Given the description of an element on the screen output the (x, y) to click on. 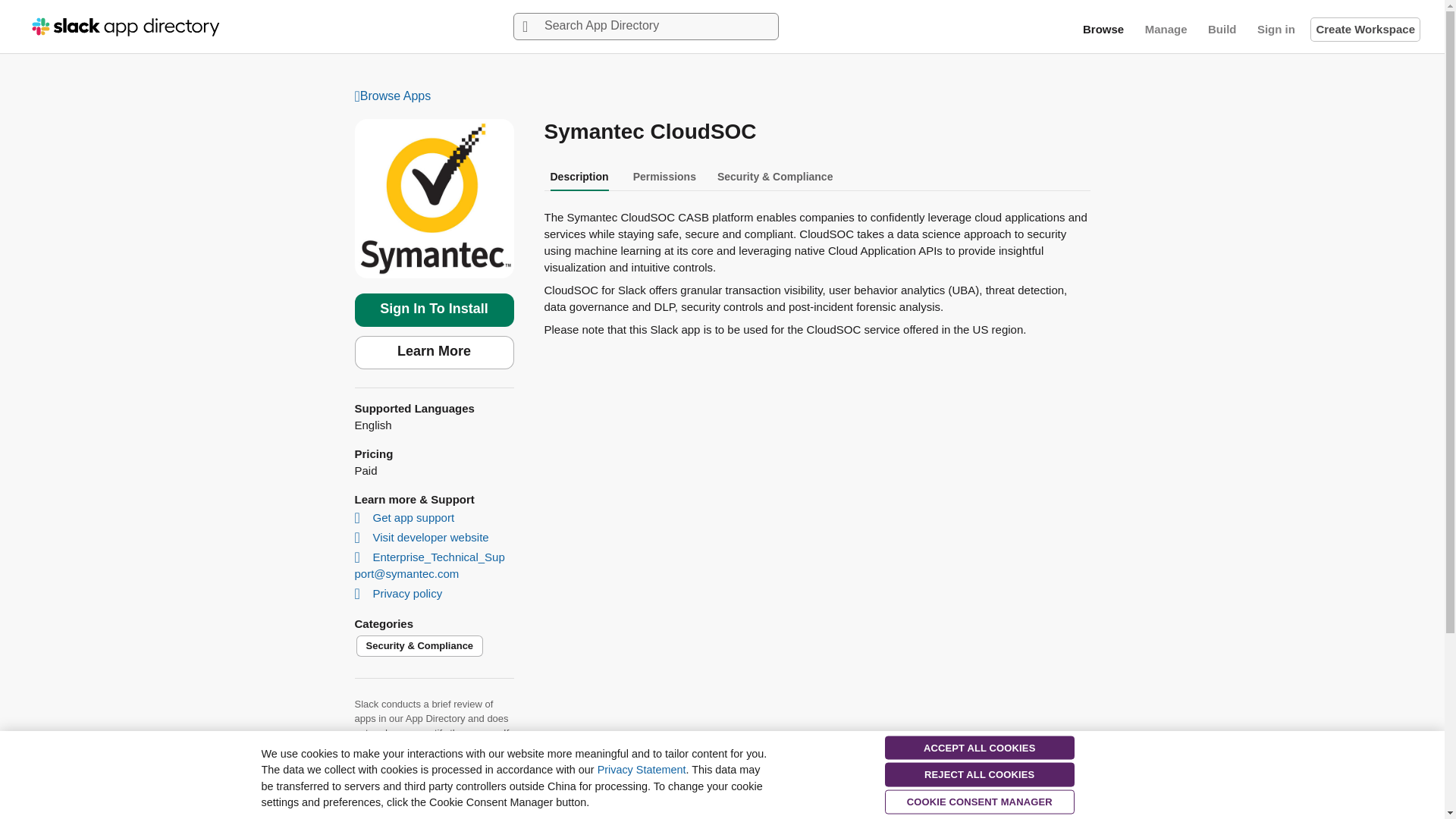
Learn More (434, 352)
Create Workspace (1365, 29)
Browse Apps (722, 96)
Report this app (394, 780)
Manage (1166, 29)
Sign In To Install (434, 309)
Privacy policy (400, 593)
Description (579, 176)
Build (1221, 29)
Permissions (664, 176)
